Given the description of an element on the screen output the (x, y) to click on. 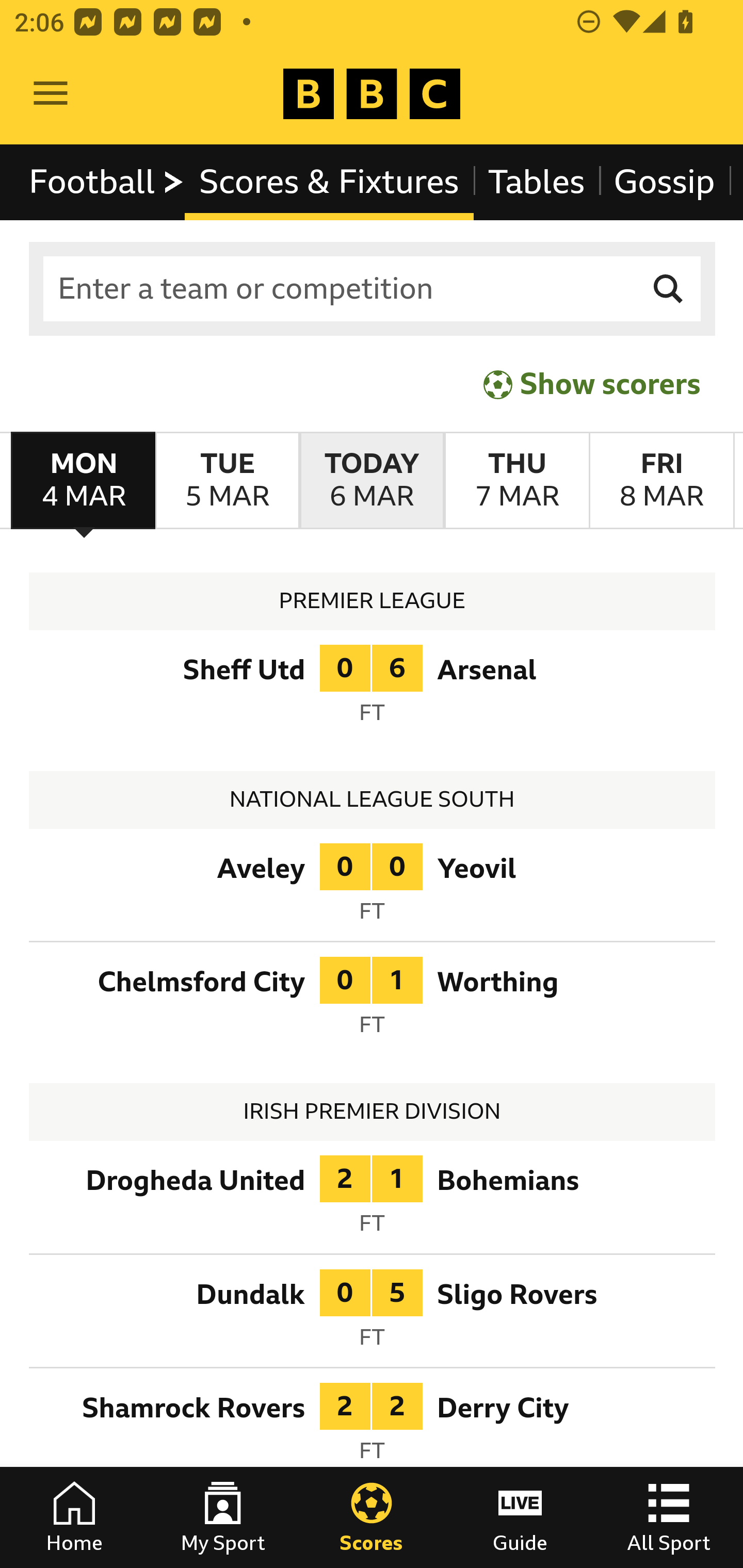
Open Menu (50, 93)
Football  (106, 181)
Scores & Fixtures (329, 181)
Tables (536, 181)
Gossip (664, 181)
Search (669, 289)
Show scorers (591, 383)
TuesdayMarch 5th Tuesday March 5th (227, 480)
TodayMarch 6th Today March 6th (371, 480)
ThursdayMarch 7th Thursday March 7th (516, 480)
FridayMarch 8th Friday March 8th (661, 480)
68399653 Sheffield United 0 Arsenal 6 Full Time (372, 689)
Home (74, 1517)
My Sport (222, 1517)
Guide (519, 1517)
All Sport (668, 1517)
